Given the description of an element on the screen output the (x, y) to click on. 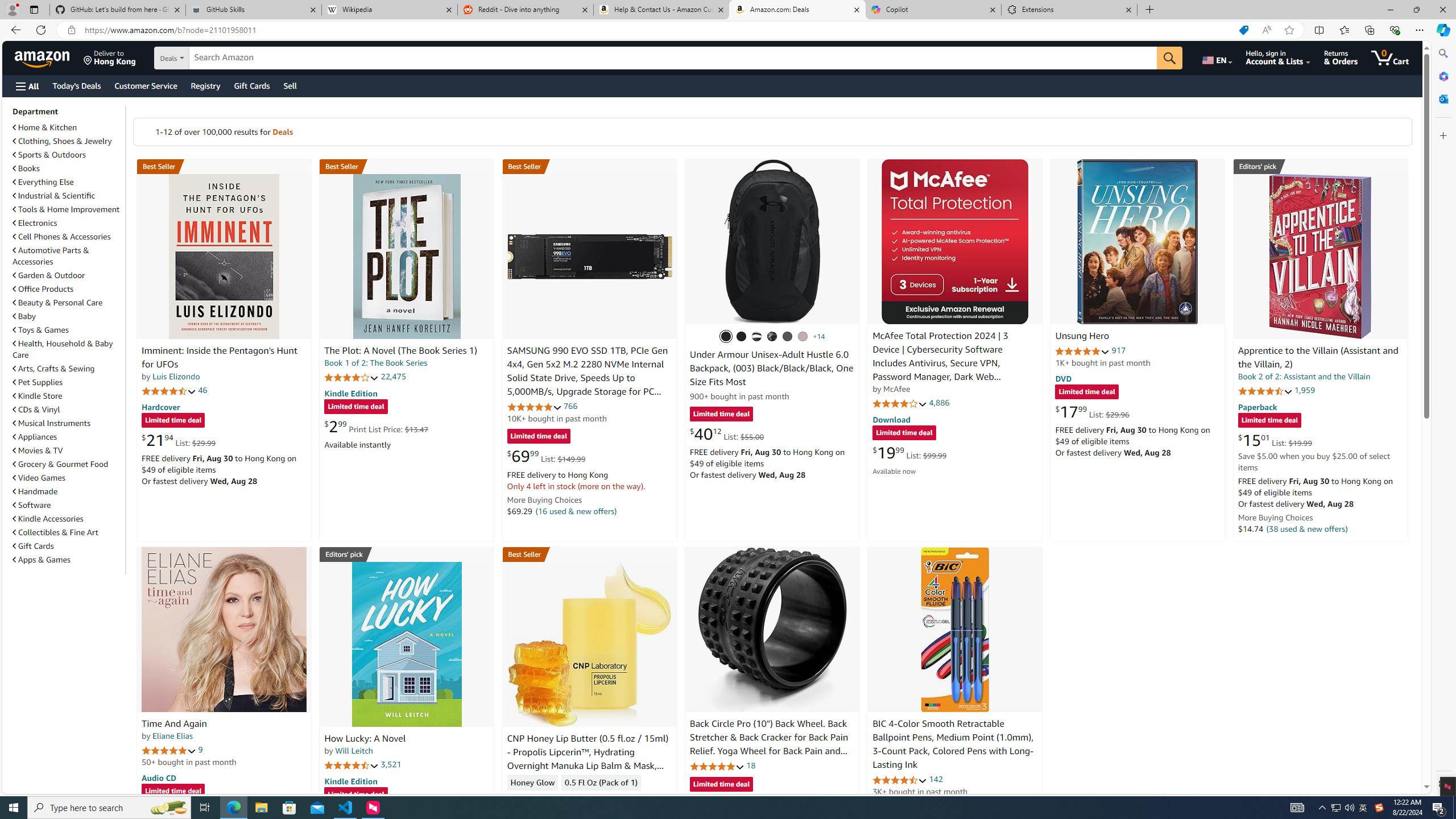
Electronics (34, 222)
9 (200, 749)
The Plot: A Novel (The Book Series 1) (406, 256)
Software (67, 505)
Help & Contact Us - Amazon Customer Service (660, 9)
Wikipedia (390, 9)
Unsung Hero (1137, 241)
Best Seller in Lip Butters (589, 553)
Musical Instruments (51, 422)
Shopping in Microsoft Edge (1243, 29)
Go (1169, 57)
Movies & TV (67, 450)
